Given the description of an element on the screen output the (x, y) to click on. 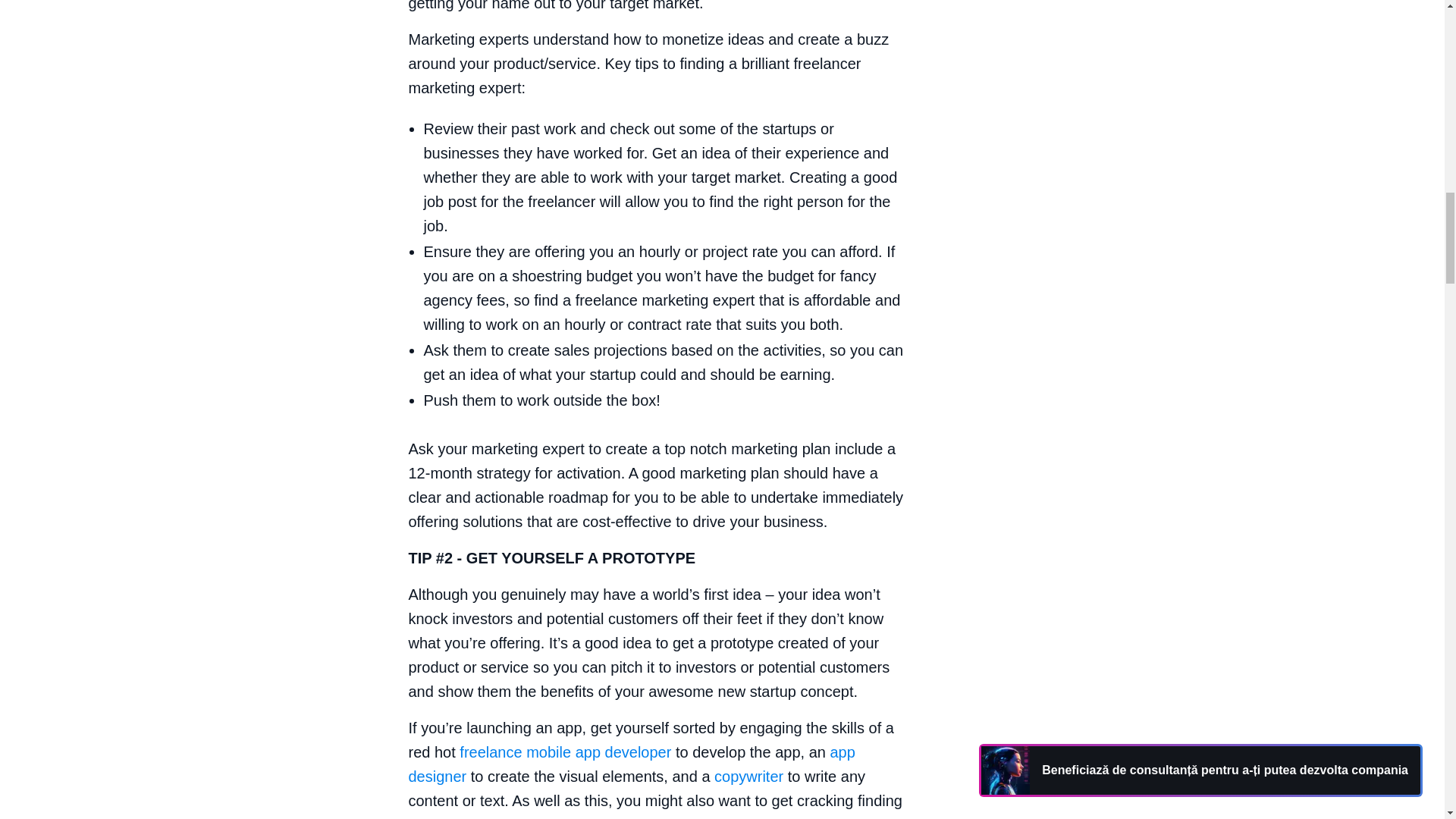
app designer (630, 763)
web developer (469, 817)
freelance mobile app developer (565, 751)
copywriter (748, 776)
